Given the description of an element on the screen output the (x, y) to click on. 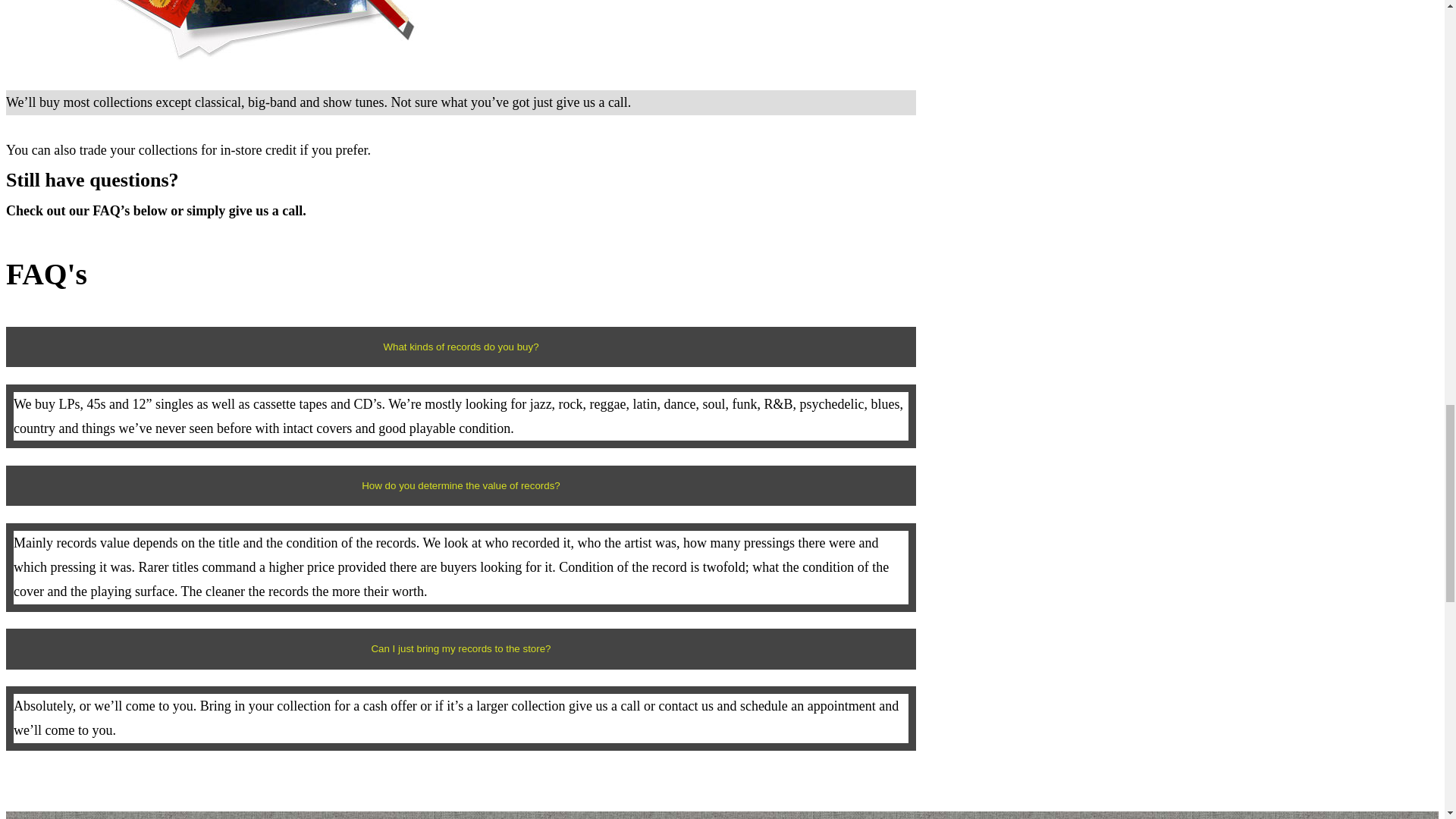
How do you determine the value of records? (460, 486)
What kinds of records do you buy? (460, 346)
Can I just bring my records to the store? (460, 648)
